Given the description of an element on the screen output the (x, y) to click on. 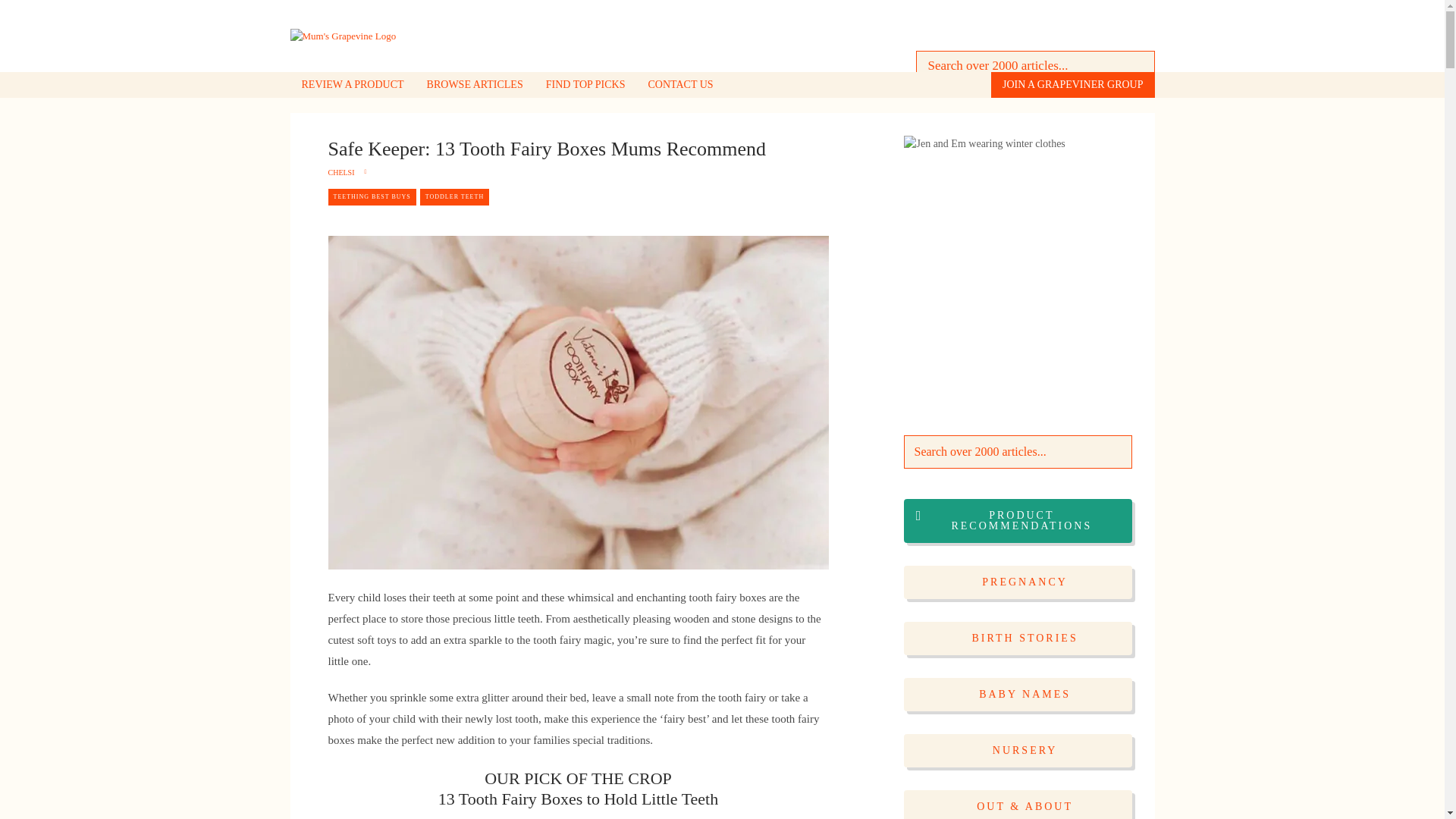
TEETHING BEST BUYS (370, 197)
BROWSE ARTICLES (474, 84)
CONTACT US (681, 84)
FIND TOP PICKS (585, 84)
CHELSI (340, 172)
REVIEW A PRODUCT (351, 84)
View all posts by Chelsi (340, 172)
TODDLER TEETH (454, 197)
Mum's Grapevine (342, 35)
JOIN A GRAPEVINER GROUP (1072, 84)
